Given the description of an element on the screen output the (x, y) to click on. 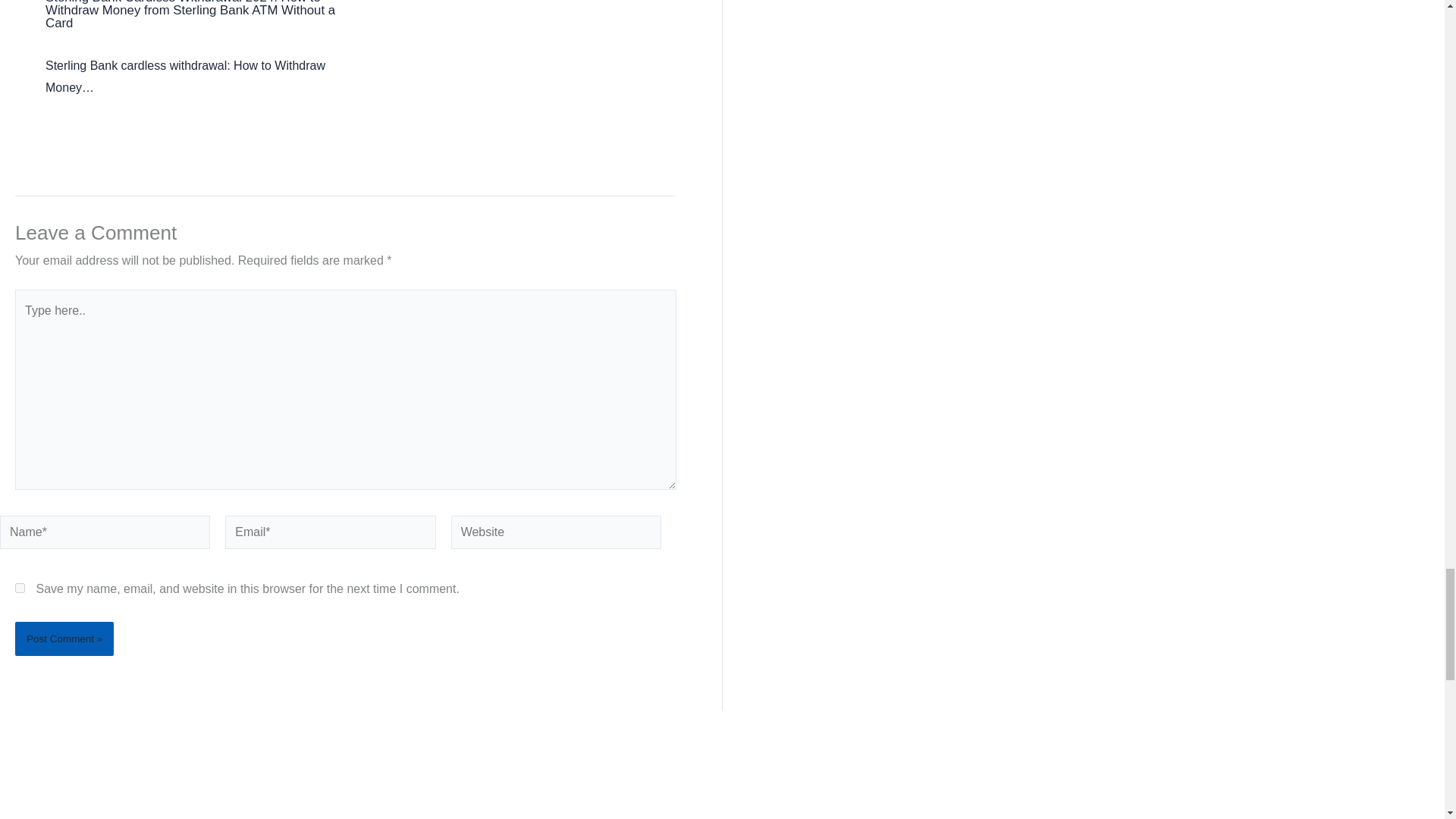
yes (19, 587)
